Given the description of an element on the screen output the (x, y) to click on. 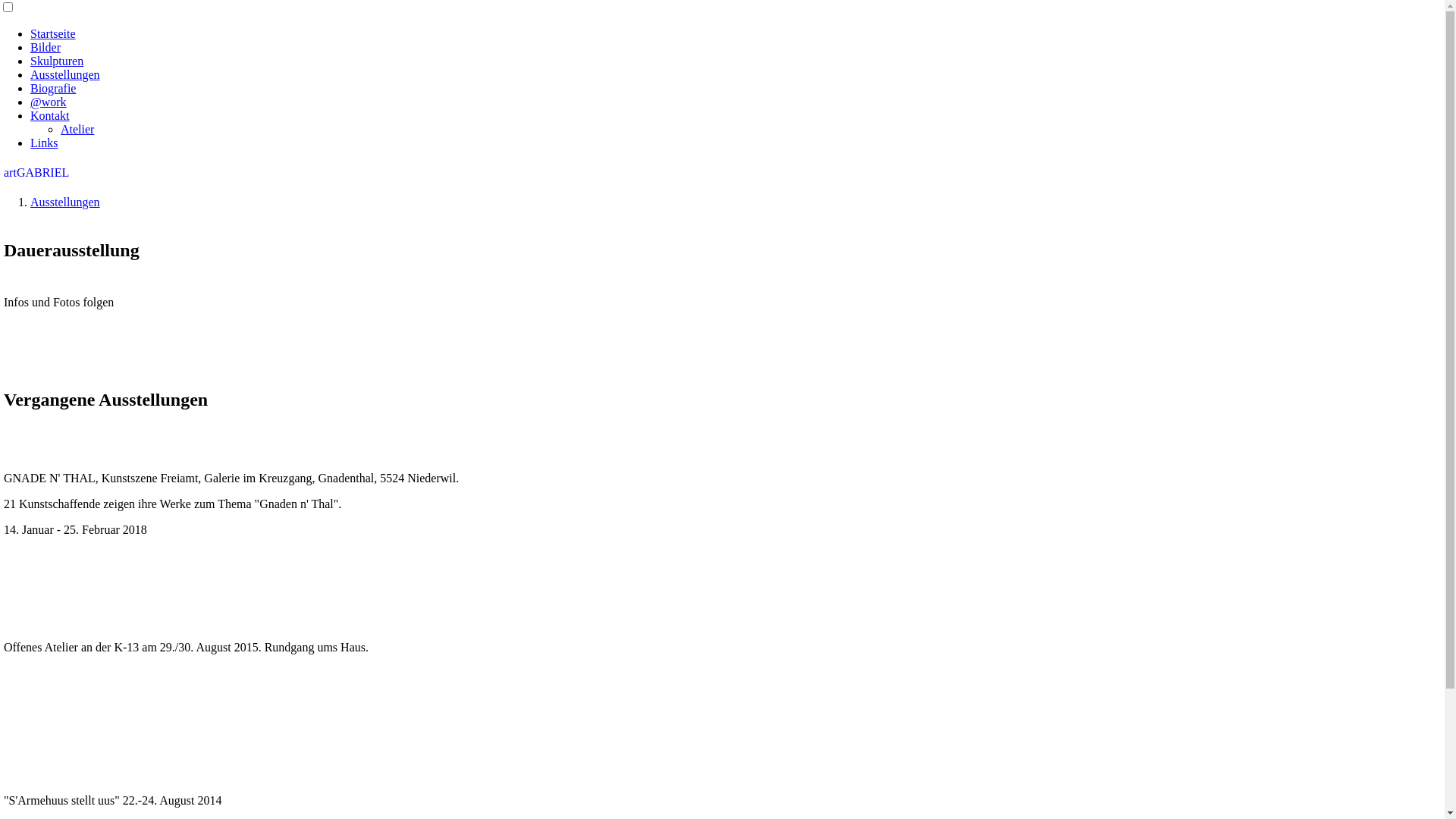
@work Element type: text (48, 101)
Atelier Element type: text (77, 128)
Bilder Element type: text (45, 46)
Biografie Element type: text (52, 87)
Ausstellungen Element type: text (65, 74)
artGABRIEL Element type: text (36, 172)
Startseite Element type: text (52, 33)
Links Element type: text (43, 142)
Ausstellungen Element type: text (65, 201)
Skulpturen Element type: text (56, 60)
Kontakt Element type: text (49, 115)
